Given the description of an element on the screen output the (x, y) to click on. 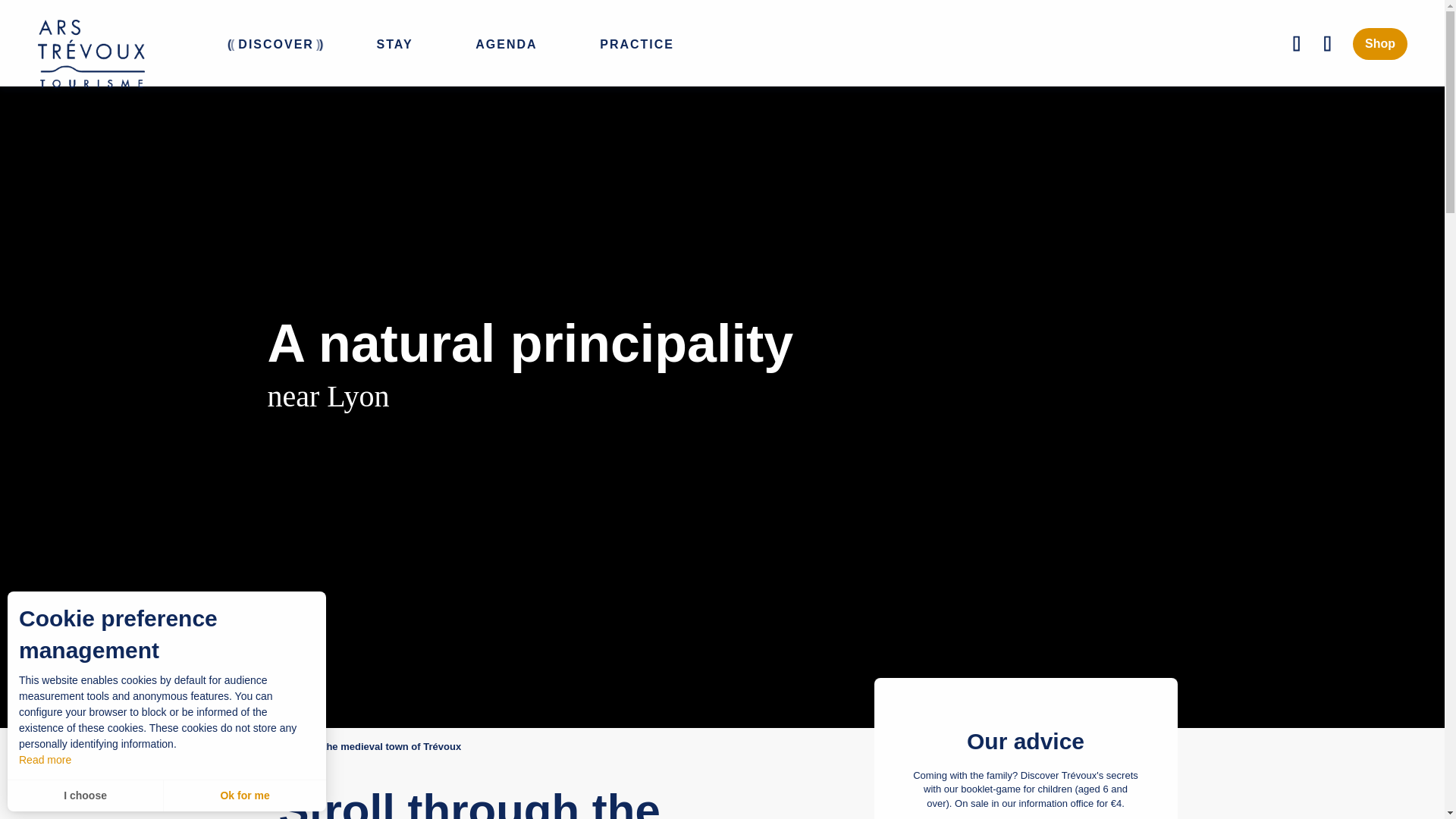
Home (52, 746)
Discover (103, 746)
Shop (1379, 43)
My escape near Lyon (188, 746)
